Given the description of an element on the screen output the (x, y) to click on. 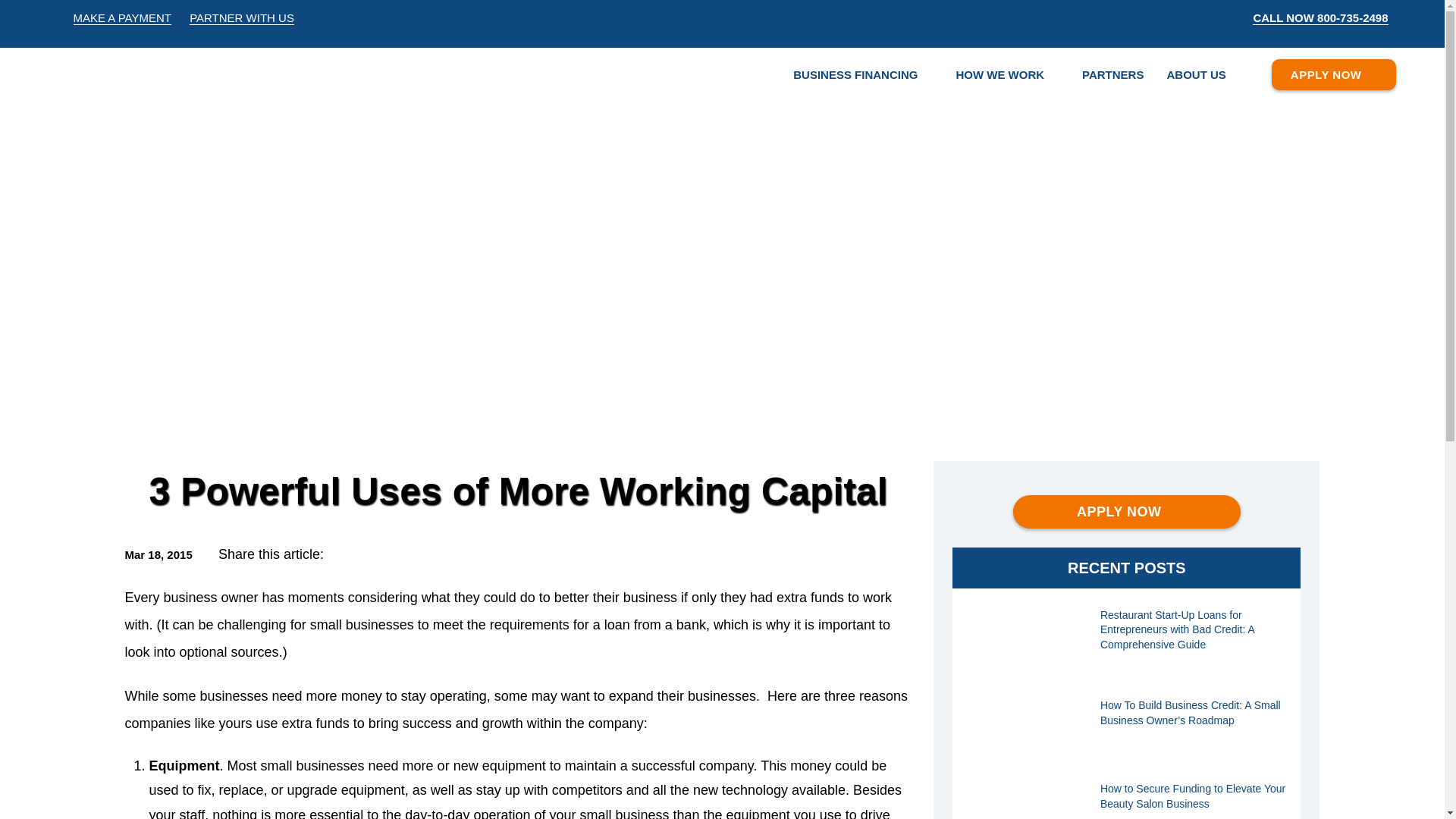
PARTNERS (1111, 74)
ABOUT US (1195, 74)
PARTNER WITH US (241, 18)
APPLY NOW (1333, 74)
MAKE A PAYMENT (121, 18)
HOW WE WORK (999, 74)
APPLY NOW (1126, 511)
BUSINESS FINANCING (855, 74)
CALL NOW 800-735-2498 (1319, 18)
